Given the description of an element on the screen output the (x, y) to click on. 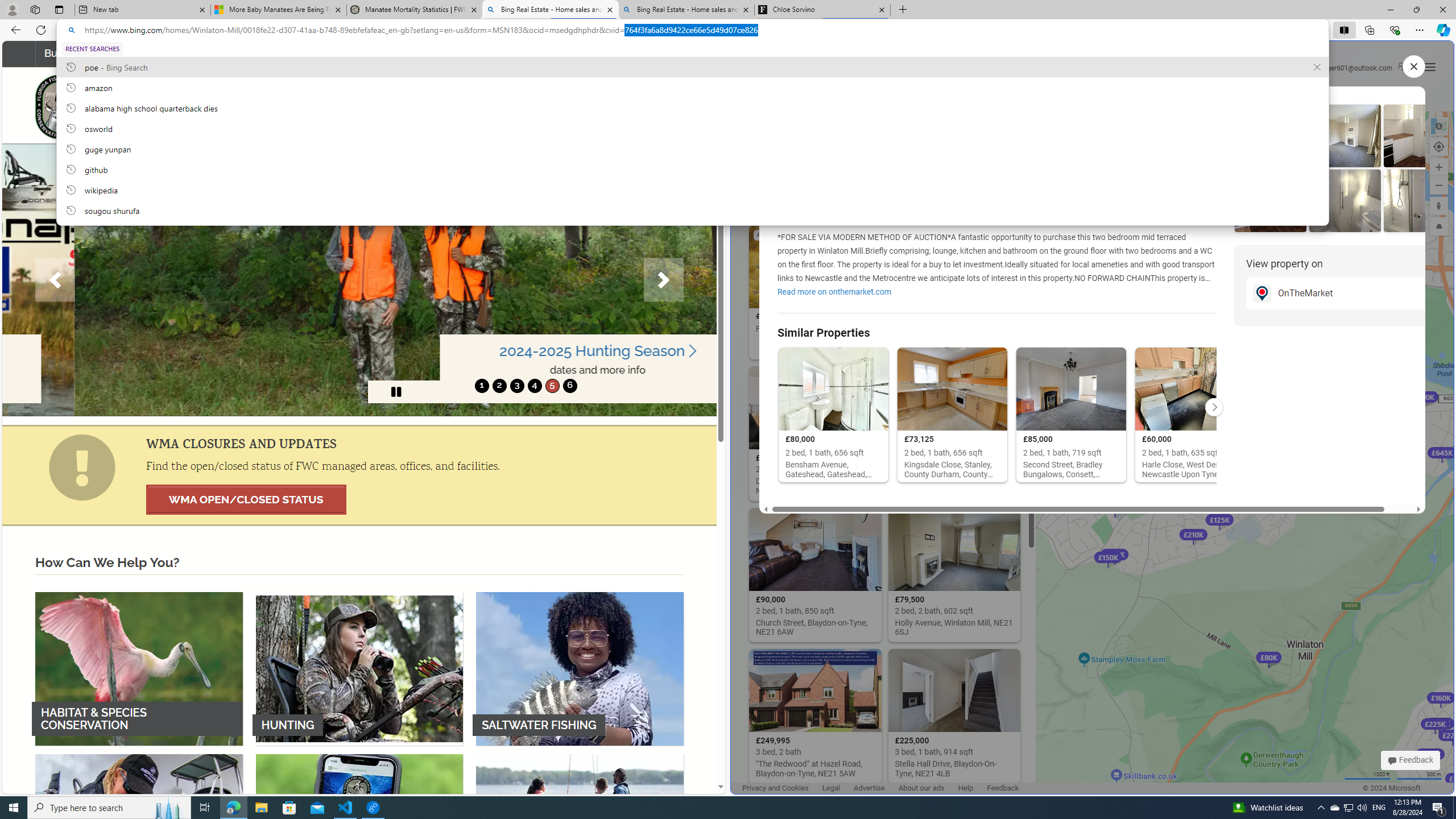
Resolve a Wildlife Conflict (208, 53)
amazon, recent searches from history (691, 86)
Previous (54, 279)
move to slide 5 (551, 385)
FWC Logo Florida Fish and Wildlife Conservation Commission (139, 104)
Address and search bar (701, 29)
